Given the description of an element on the screen output the (x, y) to click on. 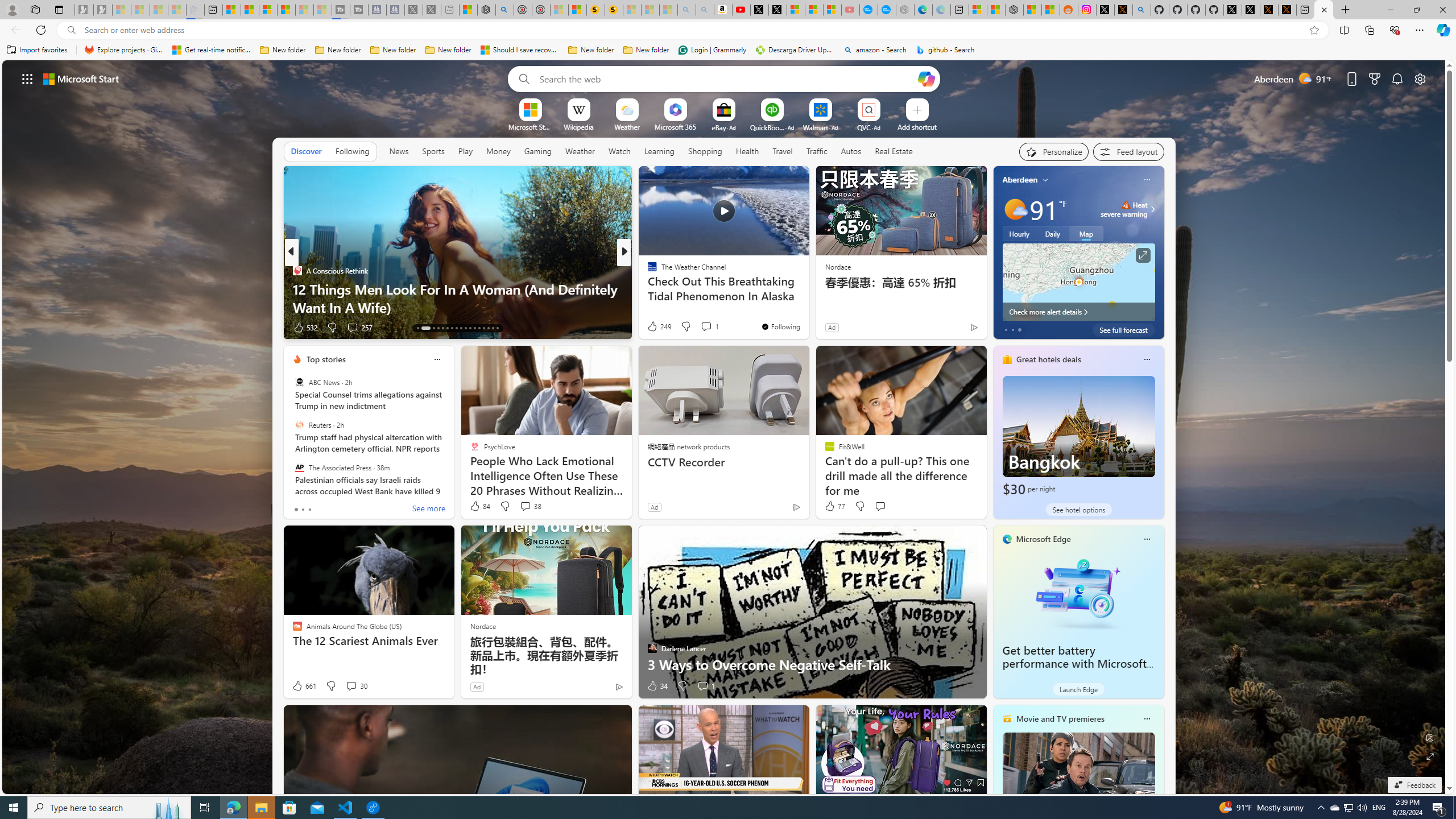
github - Search (1142, 9)
32 Like (652, 327)
View comments 8 Comment (698, 327)
15 Terrifying Creatures Still Roaming Our Planet (807, 307)
Check more alert details (1077, 311)
Gloom - YouTube - Sleeping (850, 9)
View comments 257 Comment (359, 327)
github - Search (945, 49)
Movie and TV premieres (1060, 718)
GitHub (@github) / X (1251, 9)
Microsoft start (81, 78)
